Given the description of an element on the screen output the (x, y) to click on. 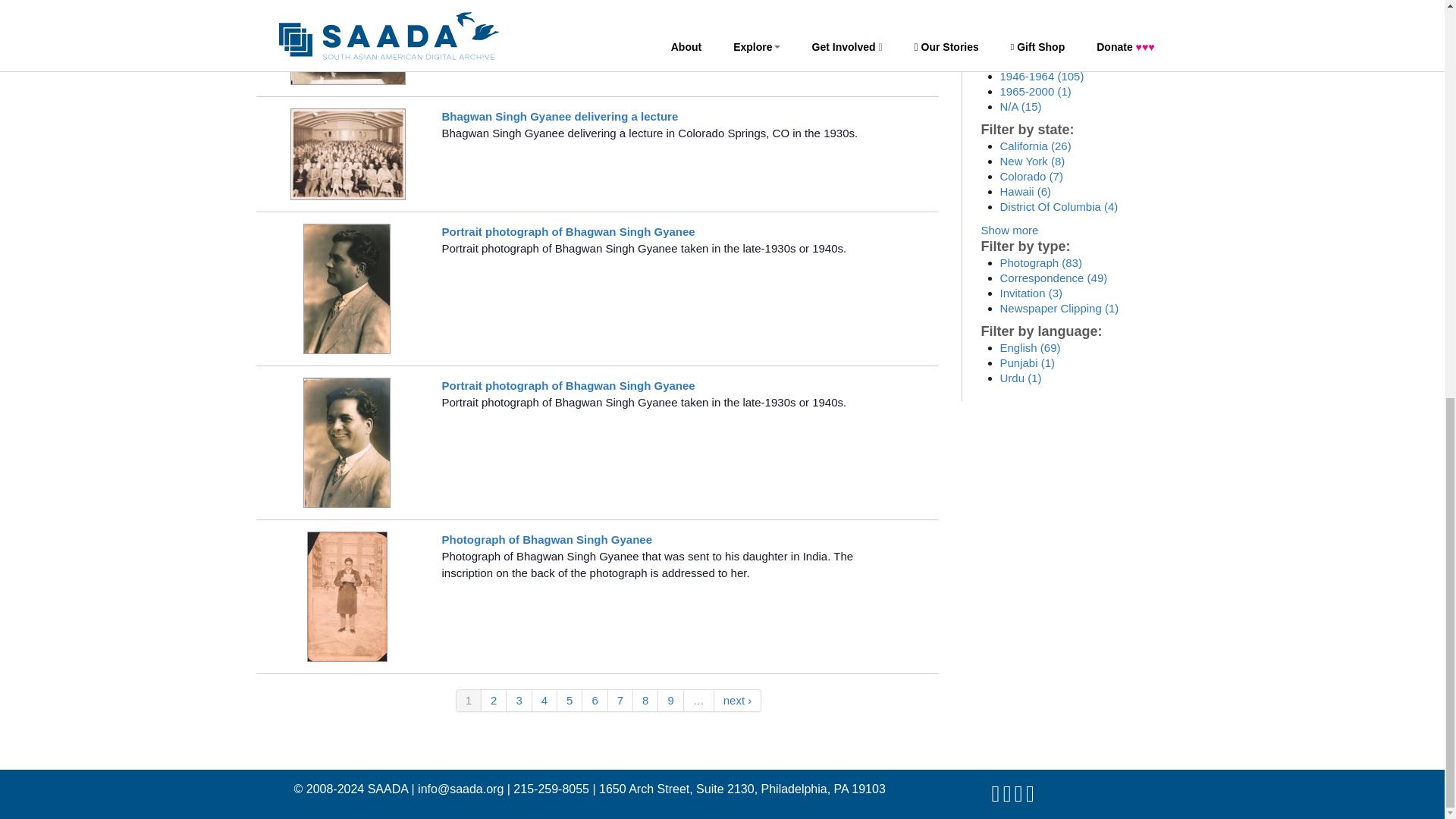
Go to page 3 (518, 700)
Go to page 9 (670, 700)
Portrait photograph of Bhagwan Singh Gyanee (567, 231)
Go to page 6 (594, 700)
Go to page 8 (645, 700)
Bhagwan Singh Gyanee delivering a lecture (559, 115)
Bhagwan Singh Gyanee delivering a lecture (559, 5)
1 (468, 700)
Portrait photograph of Bhagwan Singh Gyanee (567, 385)
Go to page 2 (493, 700)
Photograph of Bhagwan Singh Gyanee (546, 539)
Go to next page (737, 700)
Go to page 5 (569, 700)
Go to page 7 (620, 700)
Go to page 4 (544, 700)
